Given the description of an element on the screen output the (x, y) to click on. 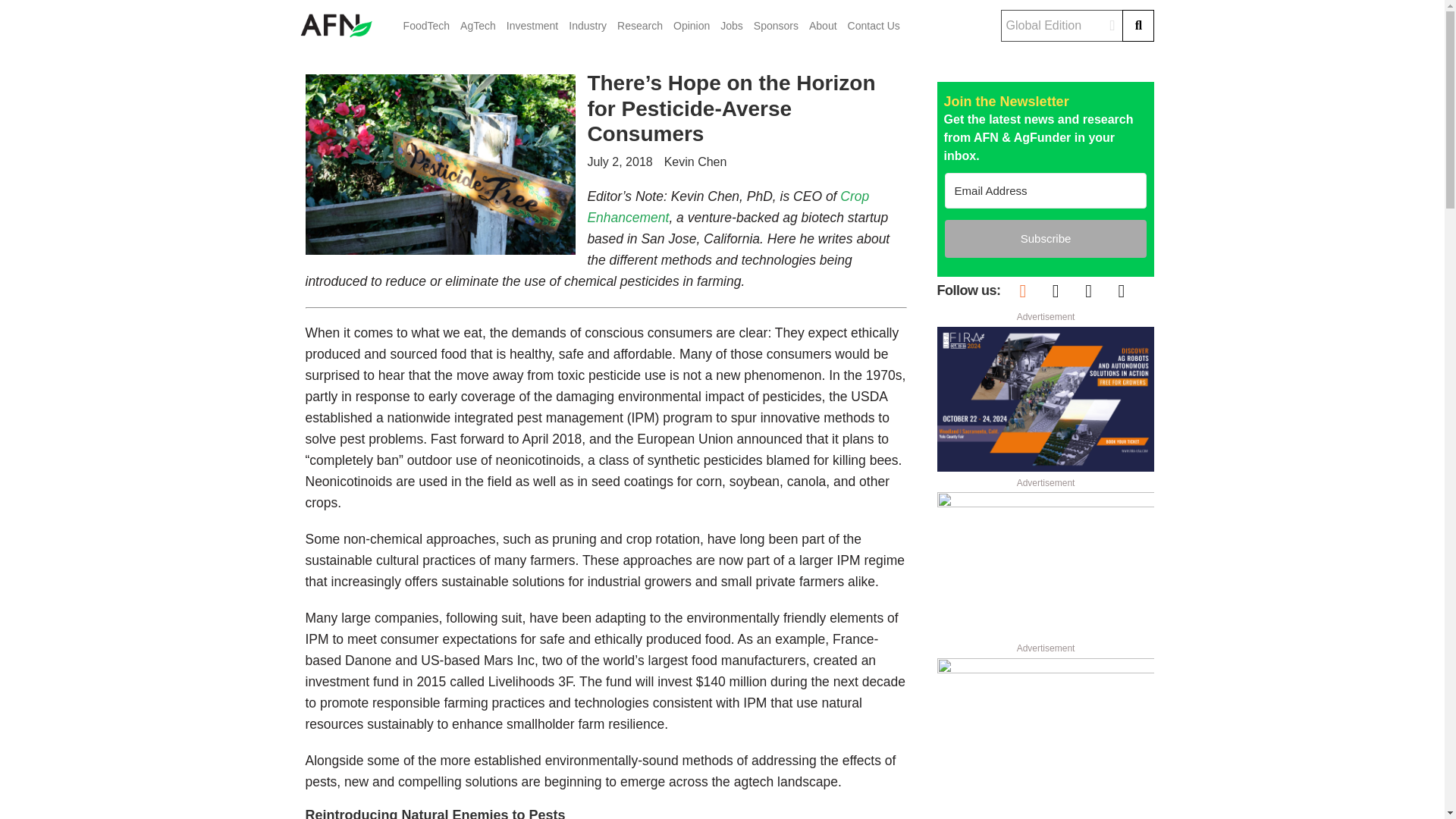
AgTech (478, 25)
FoodTech (426, 25)
Research (639, 25)
Sponsors (775, 25)
Industry (588, 25)
Contact Us (873, 25)
Investment (531, 25)
Opinion (691, 25)
